Given the description of an element on the screen output the (x, y) to click on. 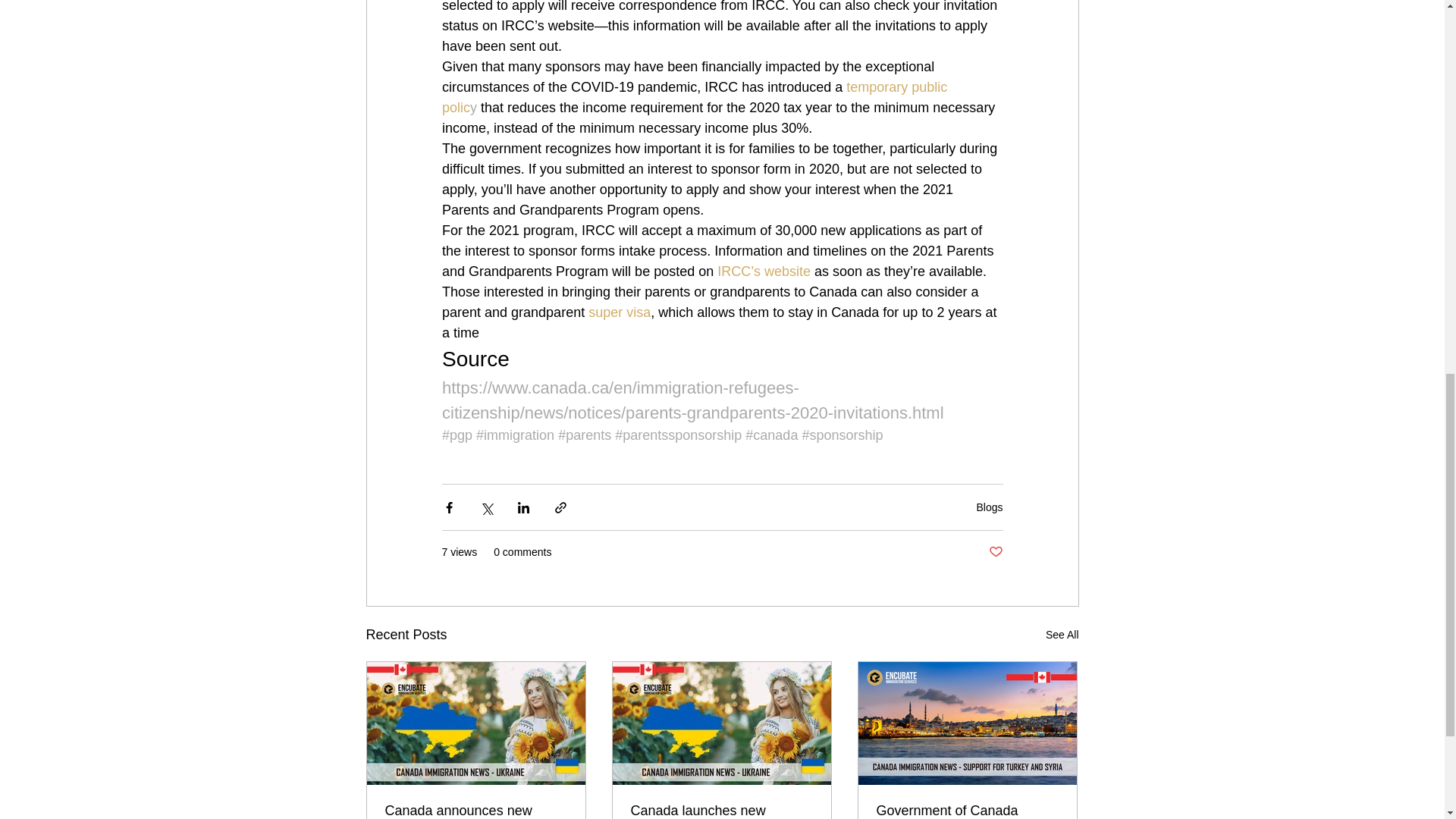
Post not marked as liked (995, 552)
super visa (619, 312)
temporary public polic (695, 97)
Blogs (989, 506)
See All (1061, 635)
